Given the description of an element on the screen output the (x, y) to click on. 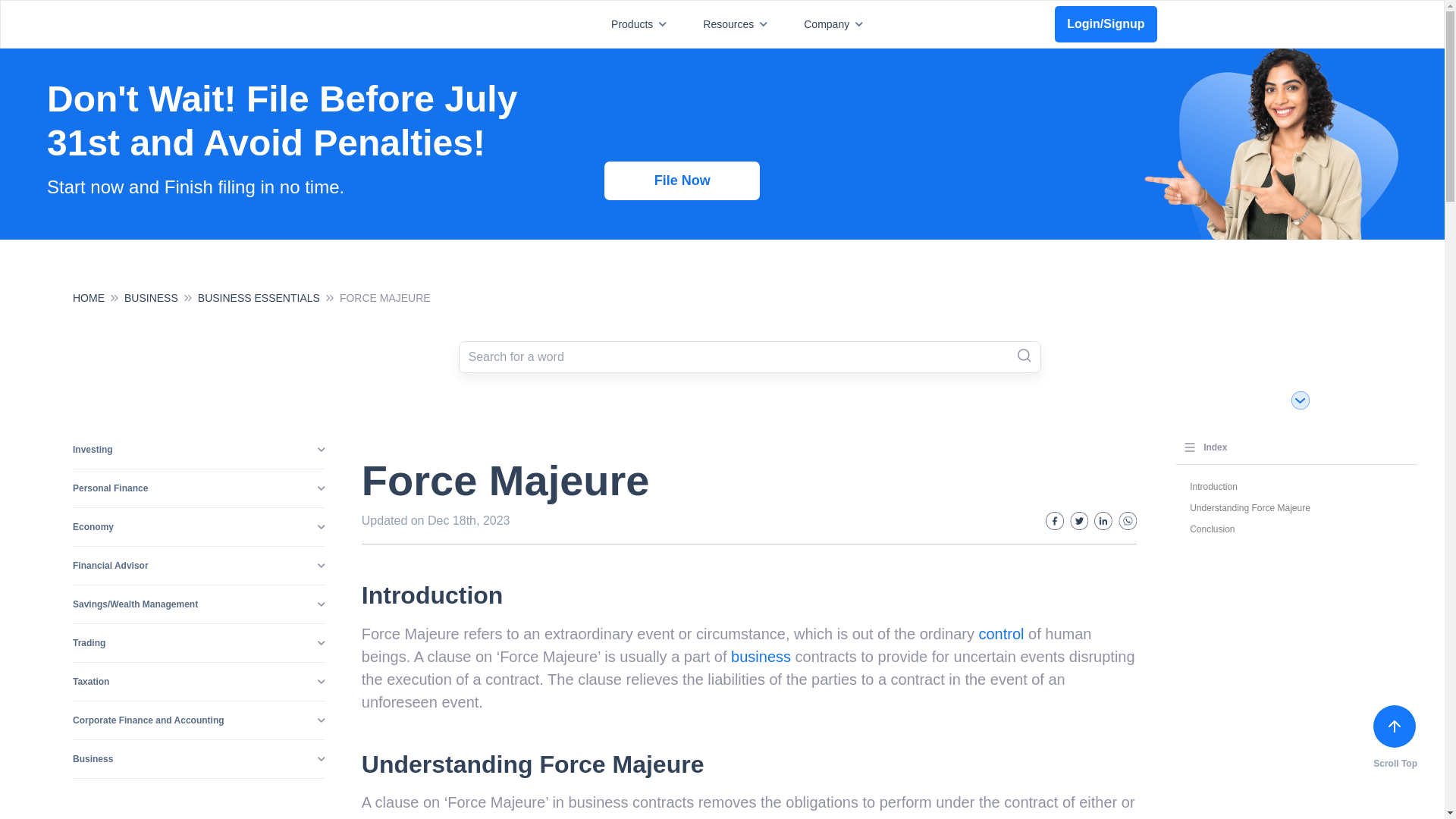
Resources (738, 24)
Company (836, 24)
Products (641, 24)
